Given the description of an element on the screen output the (x, y) to click on. 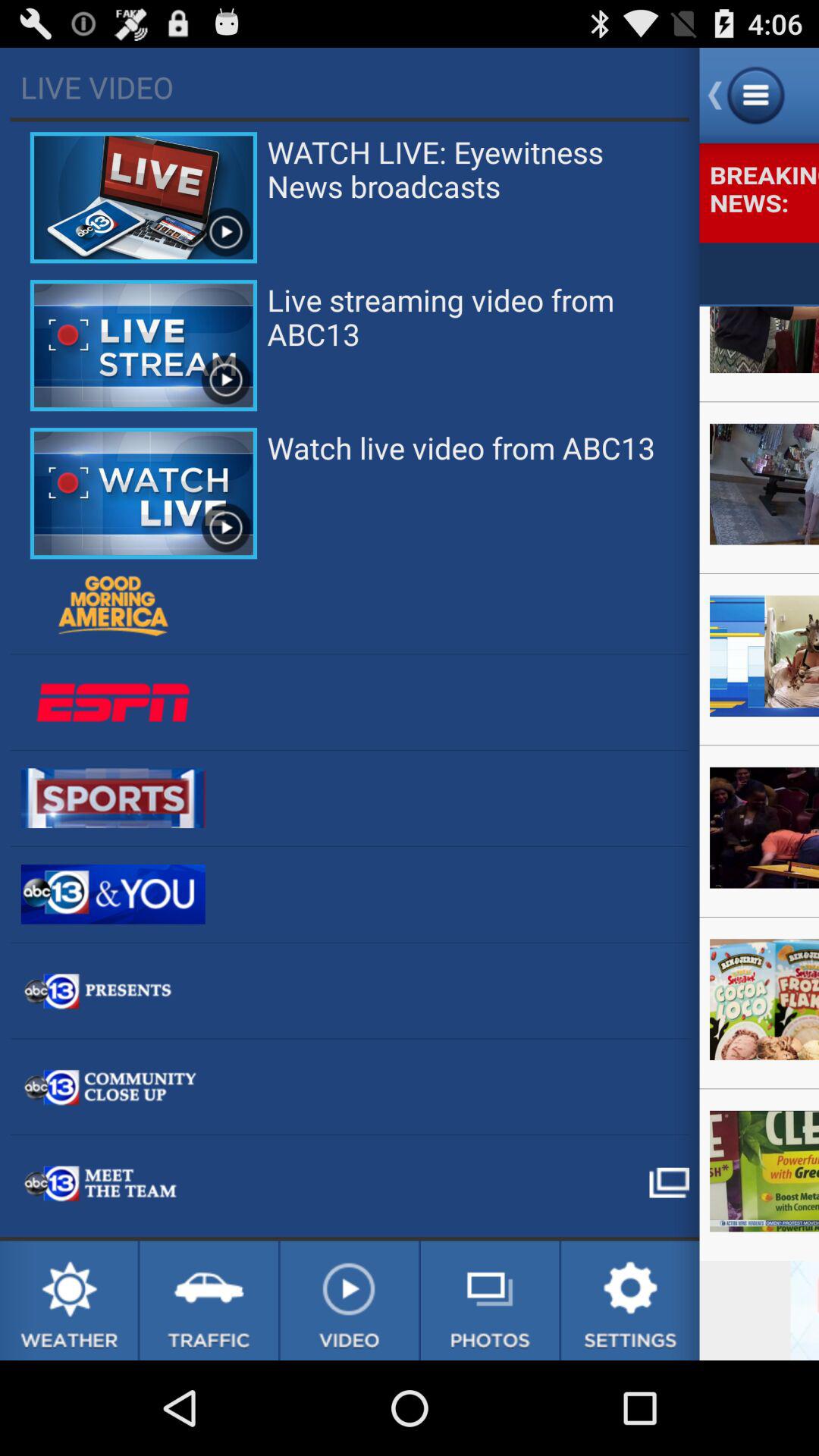
go to video section (349, 1300)
